Given the description of an element on the screen output the (x, y) to click on. 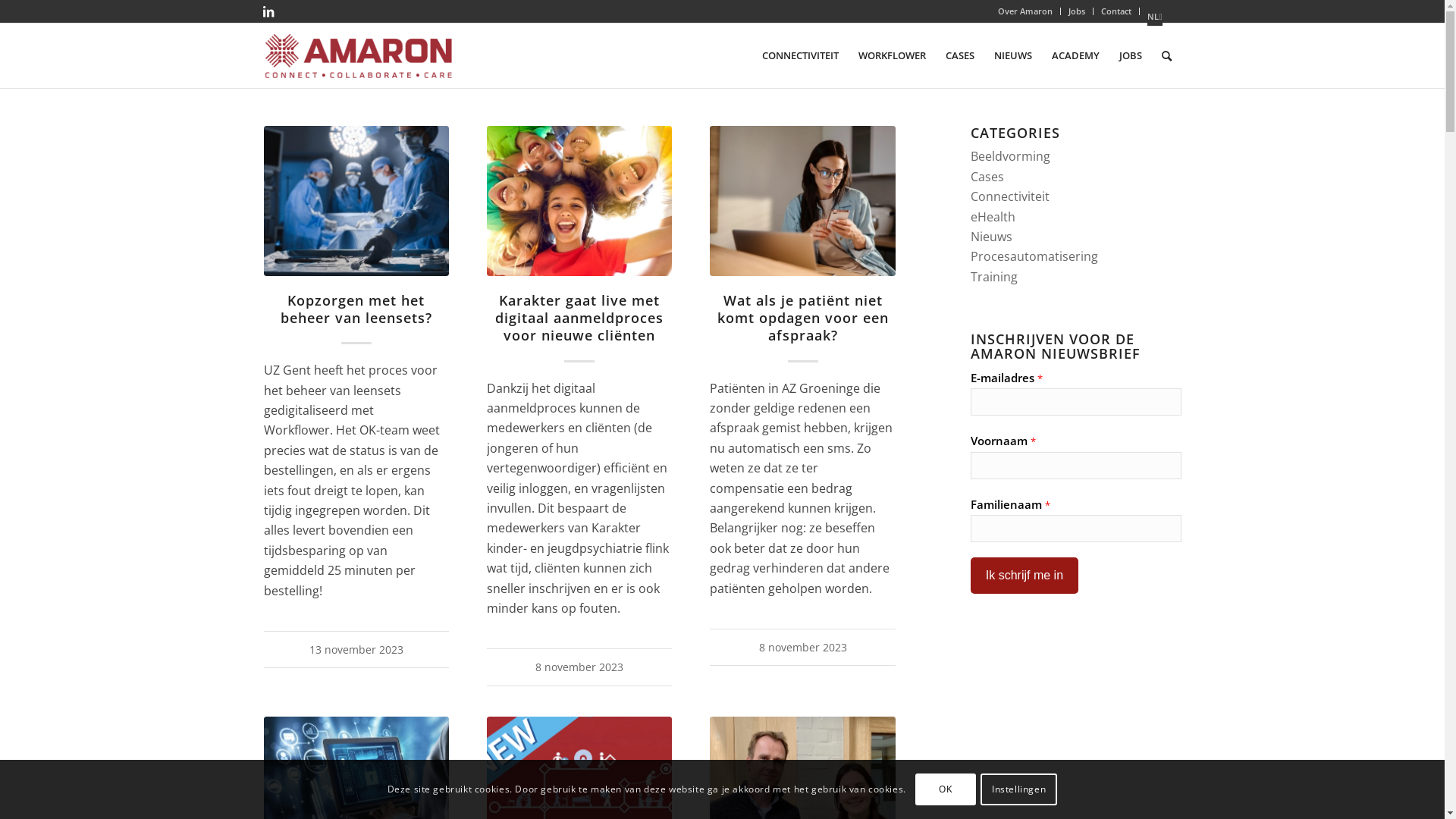
Nieuws Element type: text (991, 236)
Connectiviteit Element type: text (1009, 196)
WORKFLOWER Element type: text (891, 55)
Procesautomatisering Element type: text (1034, 255)
JOBS Element type: text (1129, 55)
Over Amaron Element type: text (1024, 10)
Ik schrijf me in Element type: text (1024, 575)
Jobs Element type: text (1076, 10)
ACADEMY Element type: text (1075, 55)
OK Element type: text (945, 789)
Training Element type: text (993, 276)
Contact Element type: text (1116, 10)
Cases Element type: text (987, 176)
CONNECTIVITEIT Element type: text (800, 55)
NL Element type: text (1154, 16)
Instellingen Element type: text (1018, 789)
NIEUWS Element type: text (1012, 55)
Beeldvorming Element type: text (1010, 155)
Kopzorgen met het beheer van leensets? Element type: text (356, 308)
eHealth Element type: text (992, 216)
CASES Element type: text (959, 55)
